Given the description of an element on the screen output the (x, y) to click on. 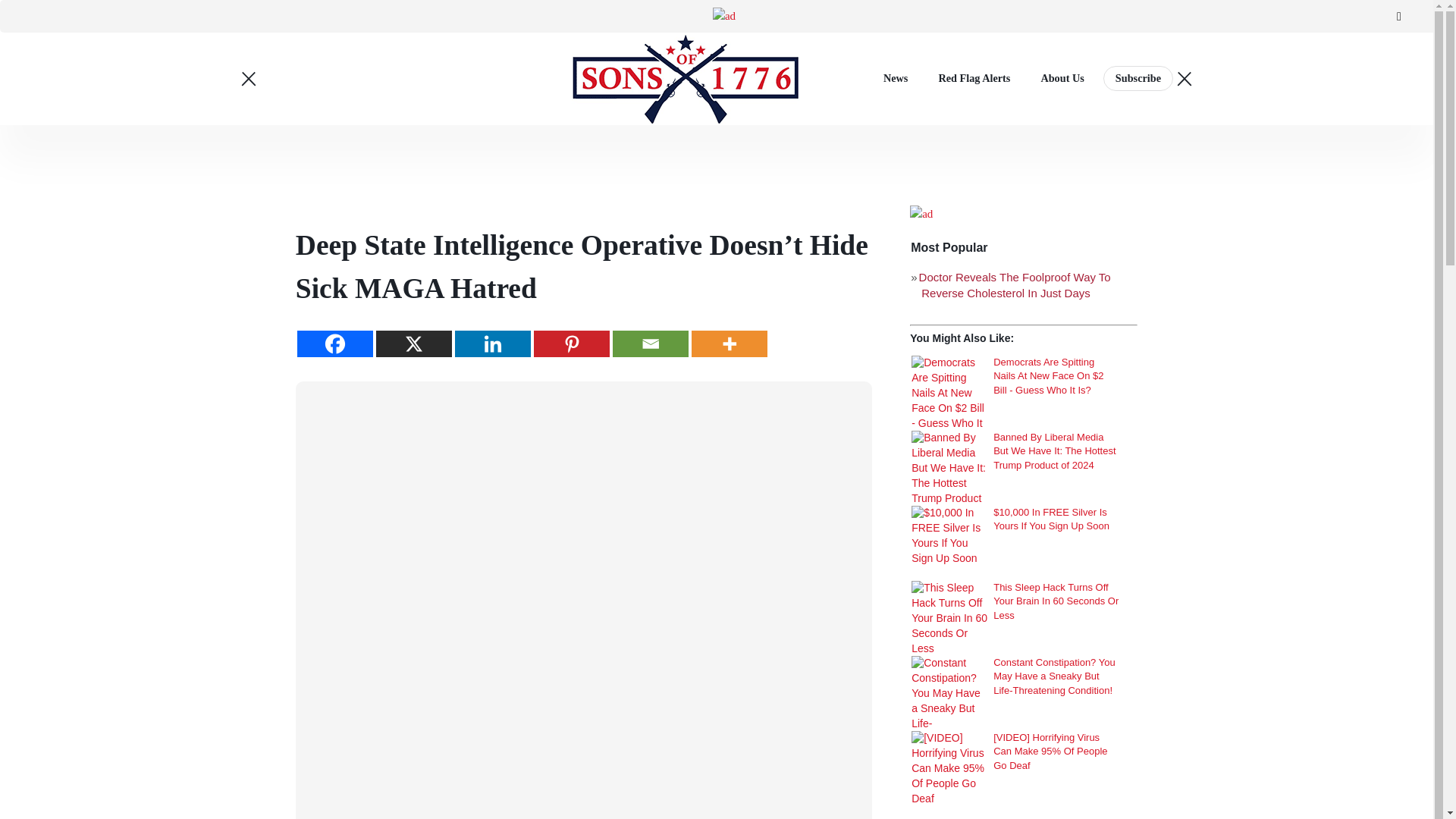
X (413, 343)
More (729, 343)
Pinterest (572, 343)
This Sleep Hack Turns Off Your Brain In 60 Seconds Or Less (949, 618)
Subscribe (1138, 78)
Email (650, 343)
Red Flag Alerts (974, 78)
About Us (1061, 78)
Facebook (334, 343)
Linkedin (492, 343)
